Given the description of an element on the screen output the (x, y) to click on. 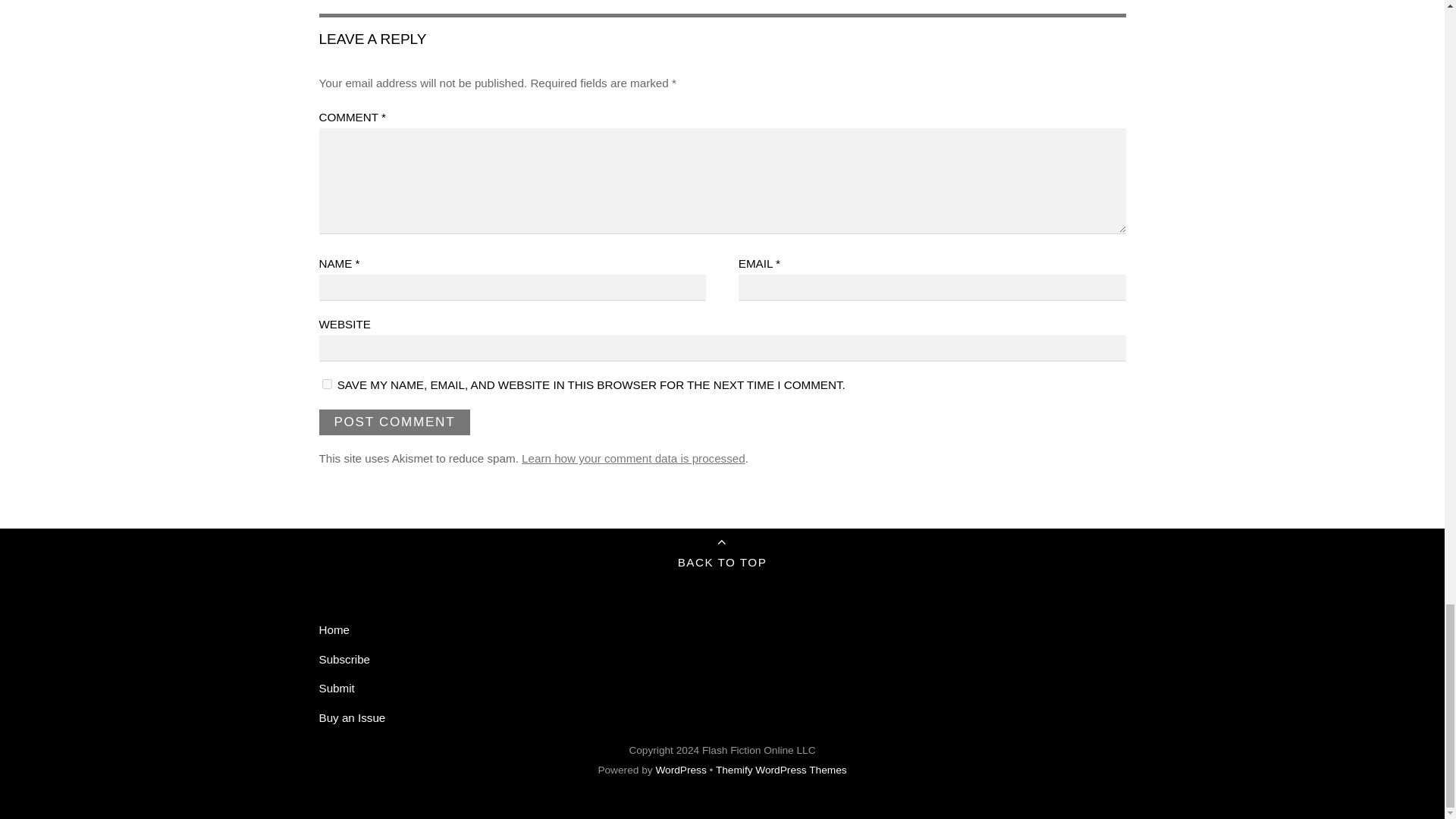
Post Comment (394, 421)
Submit (335, 687)
Subscribe (343, 658)
WordPress (680, 769)
BACK TO TOP (722, 555)
Home (333, 629)
yes (326, 384)
Themify WordPress Themes (781, 769)
Post Comment (394, 421)
Buy an Issue (351, 717)
Learn how your comment data is processed (633, 458)
